Given the description of an element on the screen output the (x, y) to click on. 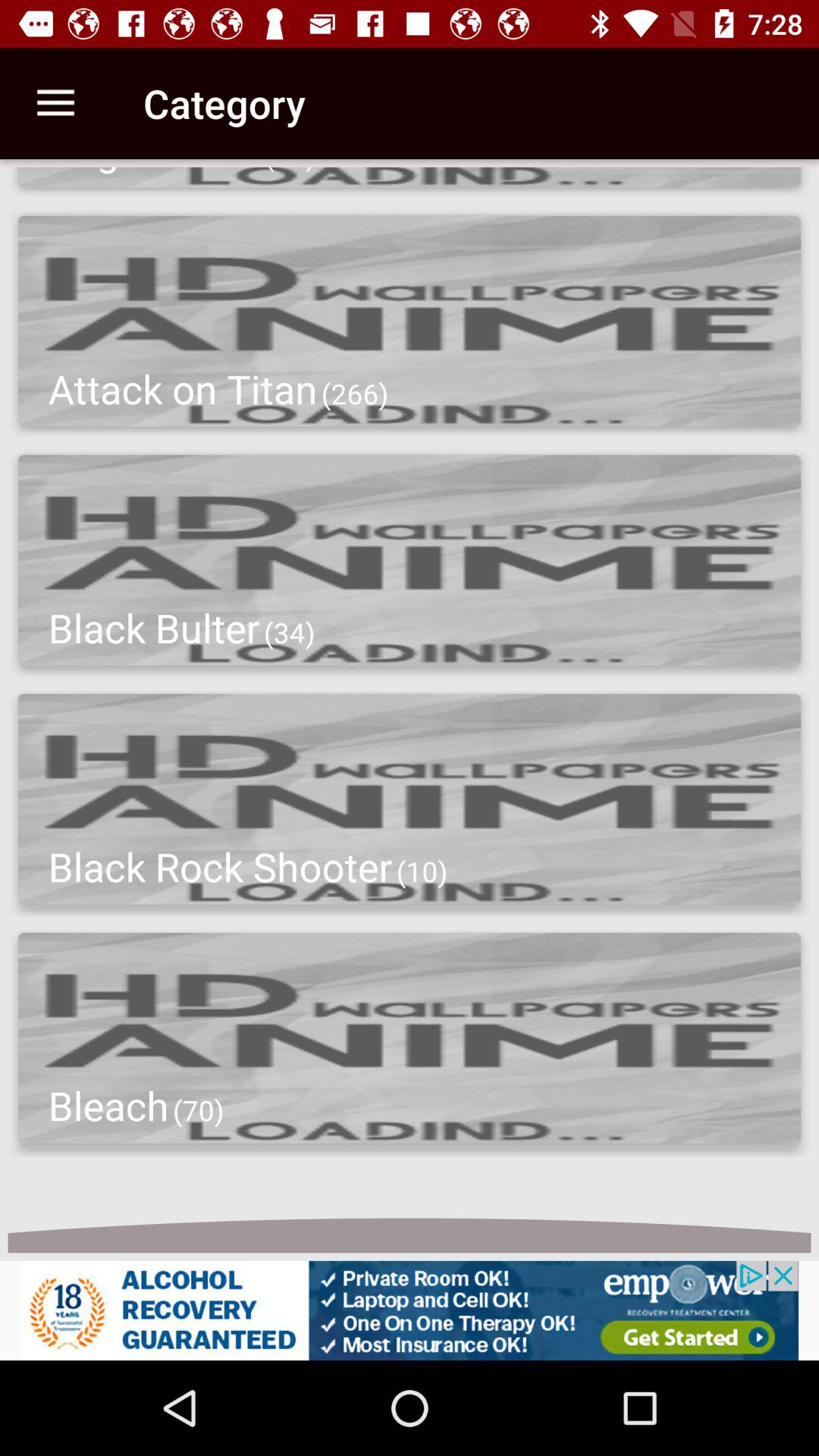
open advertisement (409, 1310)
